Given the description of an element on the screen output the (x, y) to click on. 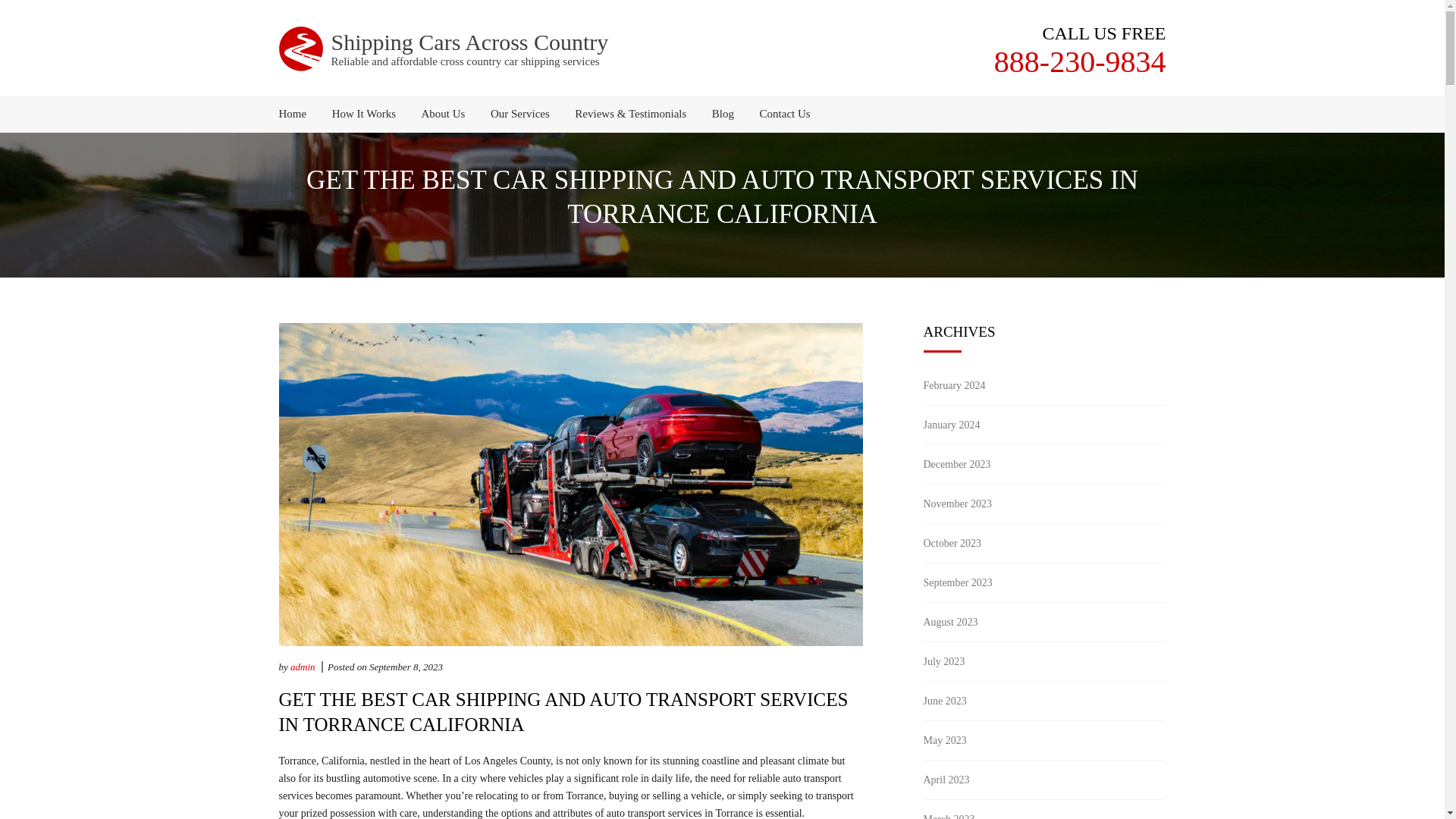
admin (302, 666)
November 2023 (957, 503)
Contact Us (779, 114)
January 2024 (951, 424)
Posts by admin (302, 666)
Blog (722, 114)
About Us (443, 114)
December 2023 (957, 464)
February 2024 (954, 385)
